Given the description of an element on the screen output the (x, y) to click on. 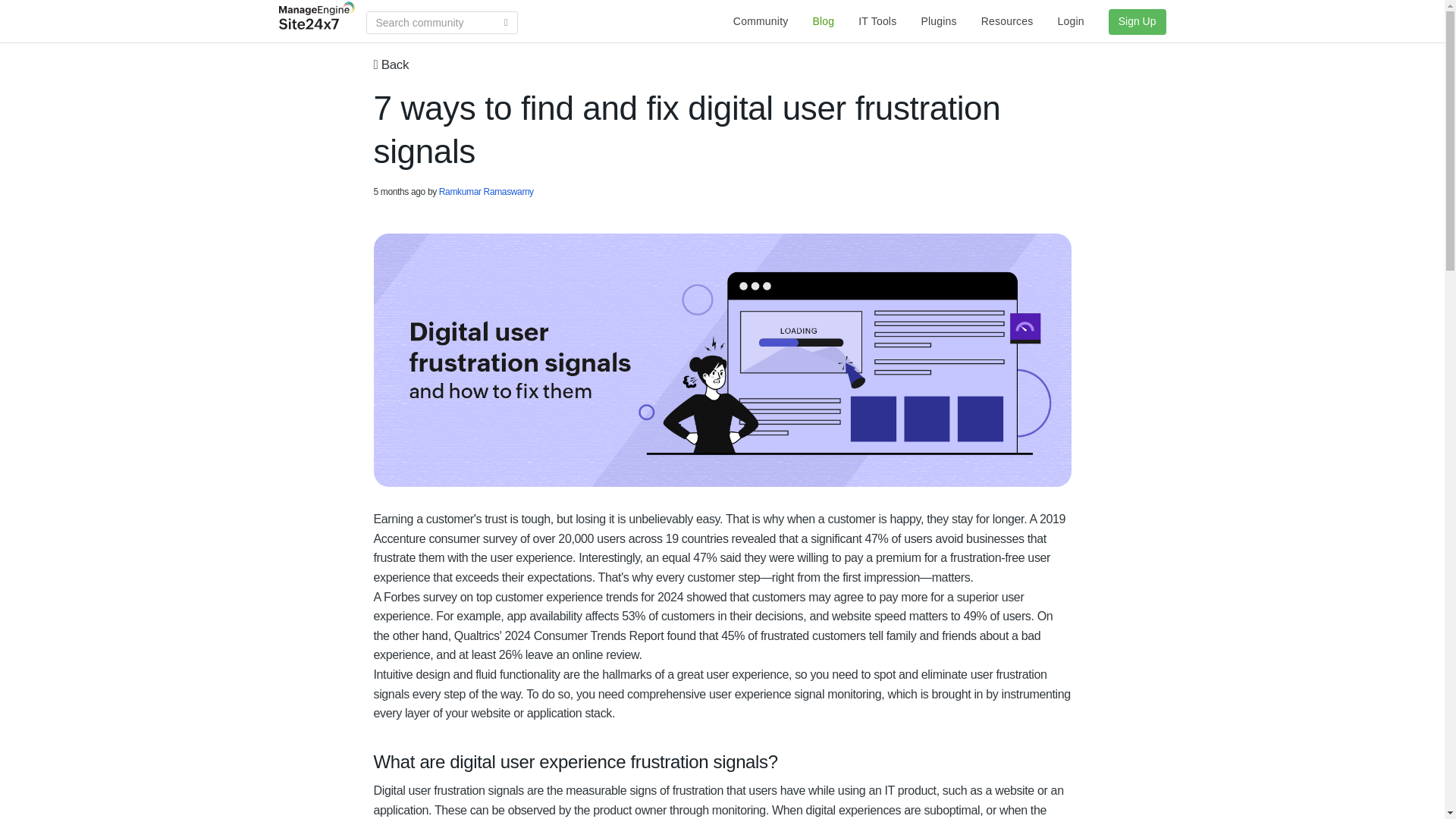
Plugins (938, 21)
Blog (822, 21)
Site24x7 (317, 15)
Resources (1007, 21)
Back (390, 64)
22-Feb-2024 05:33 PM (398, 191)
Ramkumar Ramaswamy (486, 191)
Login (1069, 21)
Sign Up (1131, 21)
IT Tools (877, 21)
Sign Up (1137, 22)
Community (760, 21)
